Given the description of an element on the screen output the (x, y) to click on. 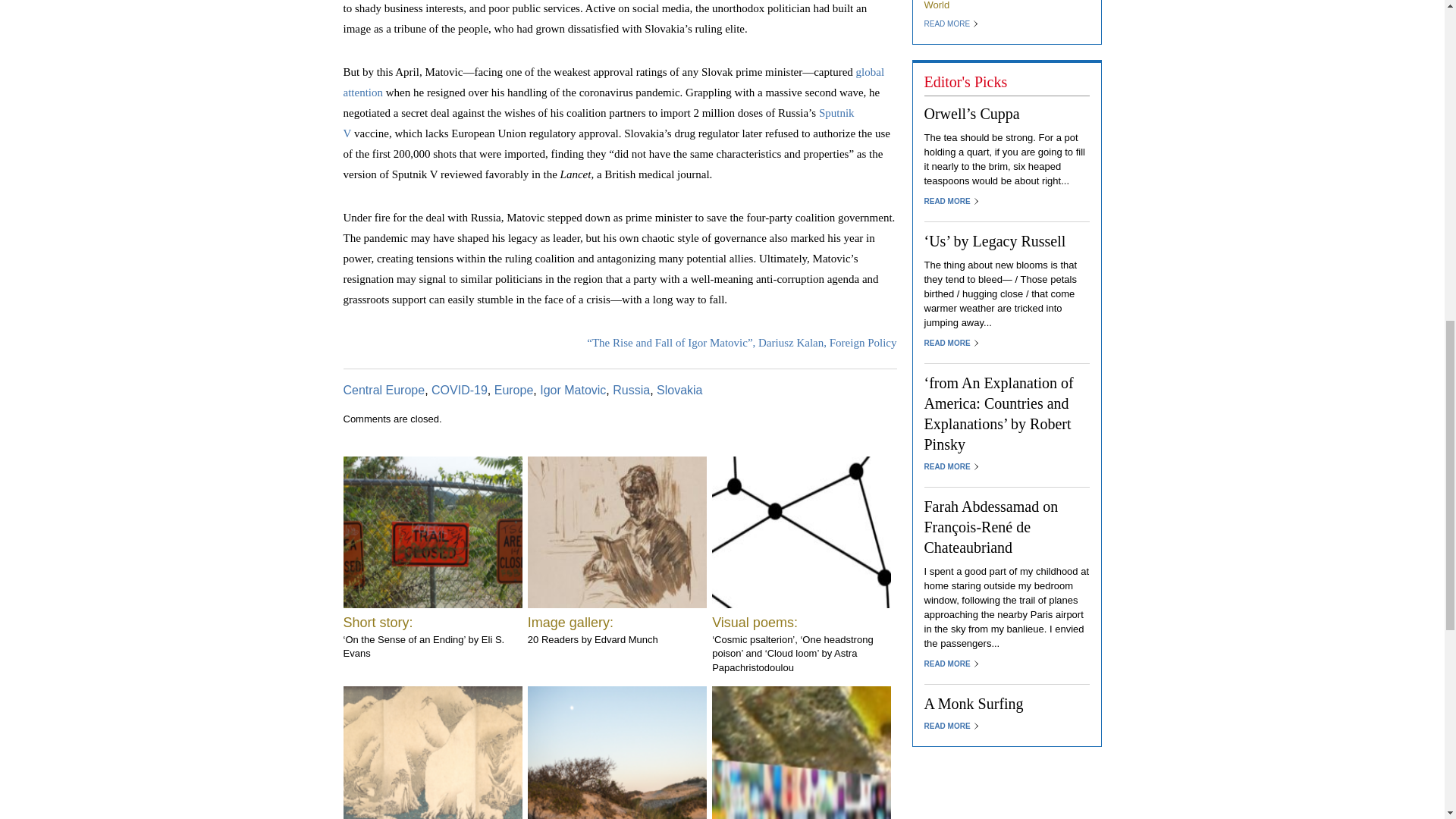
Short story: (377, 622)
global attention (612, 82)
Image gallery: (569, 622)
Sputnik V (597, 123)
Slovakia (678, 390)
Europe (514, 390)
COVID-19 (458, 390)
Central Europe (383, 390)
Russia (630, 390)
Igor Matovic (572, 390)
